Given the description of an element on the screen output the (x, y) to click on. 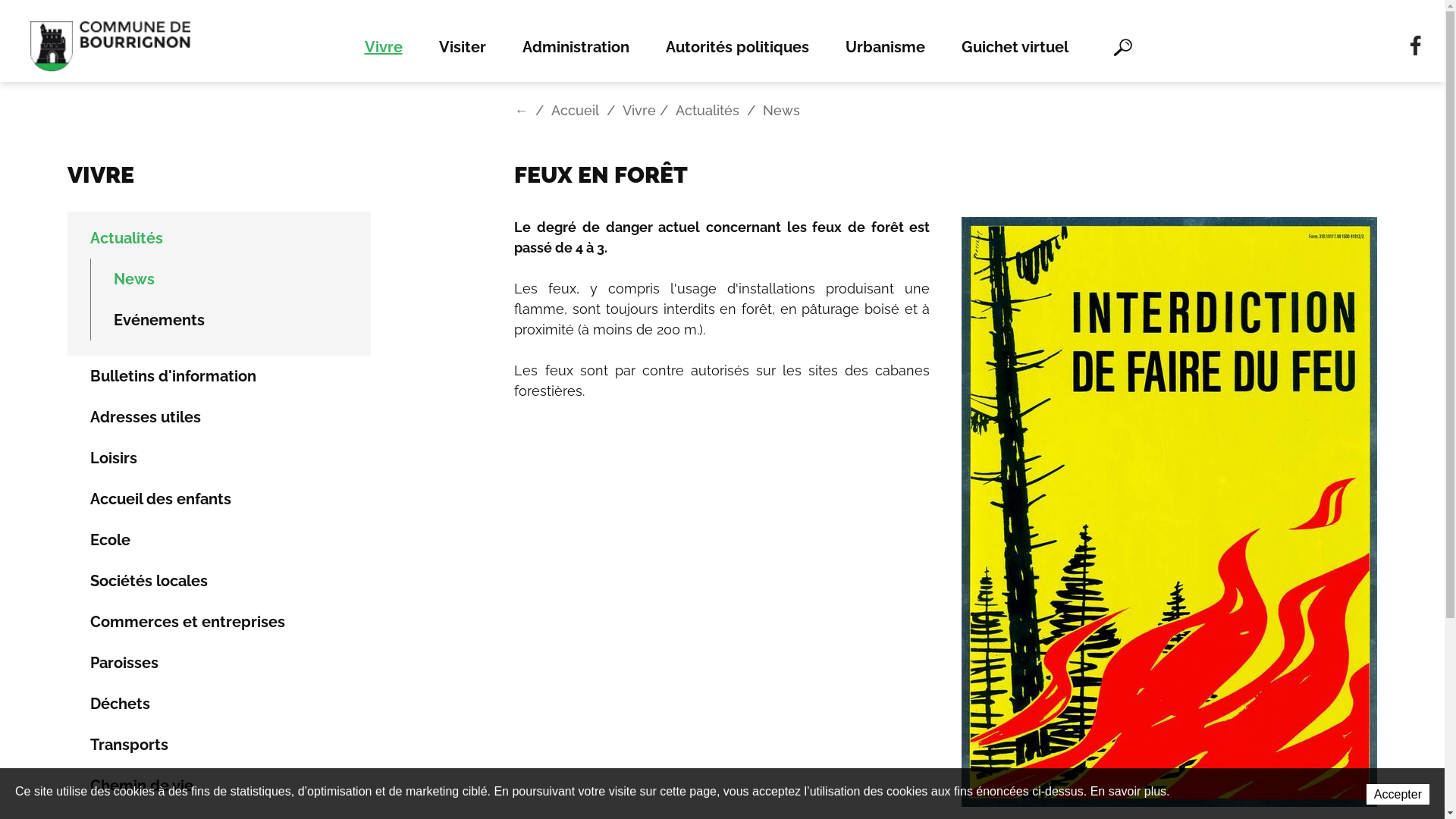
Ecole Element type: text (218, 539)
Loisirs Element type: text (218, 457)
Vivre Element type: text (638, 110)
Transports Element type: text (218, 744)
News Element type: text (229, 278)
Adresses utiles Element type: text (218, 416)
Accepter Element type: text (1397, 794)
Rechercher Element type: text (1122, 45)
Paroisses Element type: text (218, 662)
Vivre Element type: text (392, 45)
Urbanisme Element type: text (884, 45)
Bulletins d'information Element type: text (218, 375)
Accueil Element type: text (575, 110)
Accueil des enfants Element type: text (218, 498)
Administration Element type: text (574, 45)
Chemin de vie Element type: text (218, 785)
Commerces et entreprises Element type: text (218, 621)
Visiter Element type: text (461, 45)
Guichet virtuel Element type: text (1014, 45)
